Given the description of an element on the screen output the (x, y) to click on. 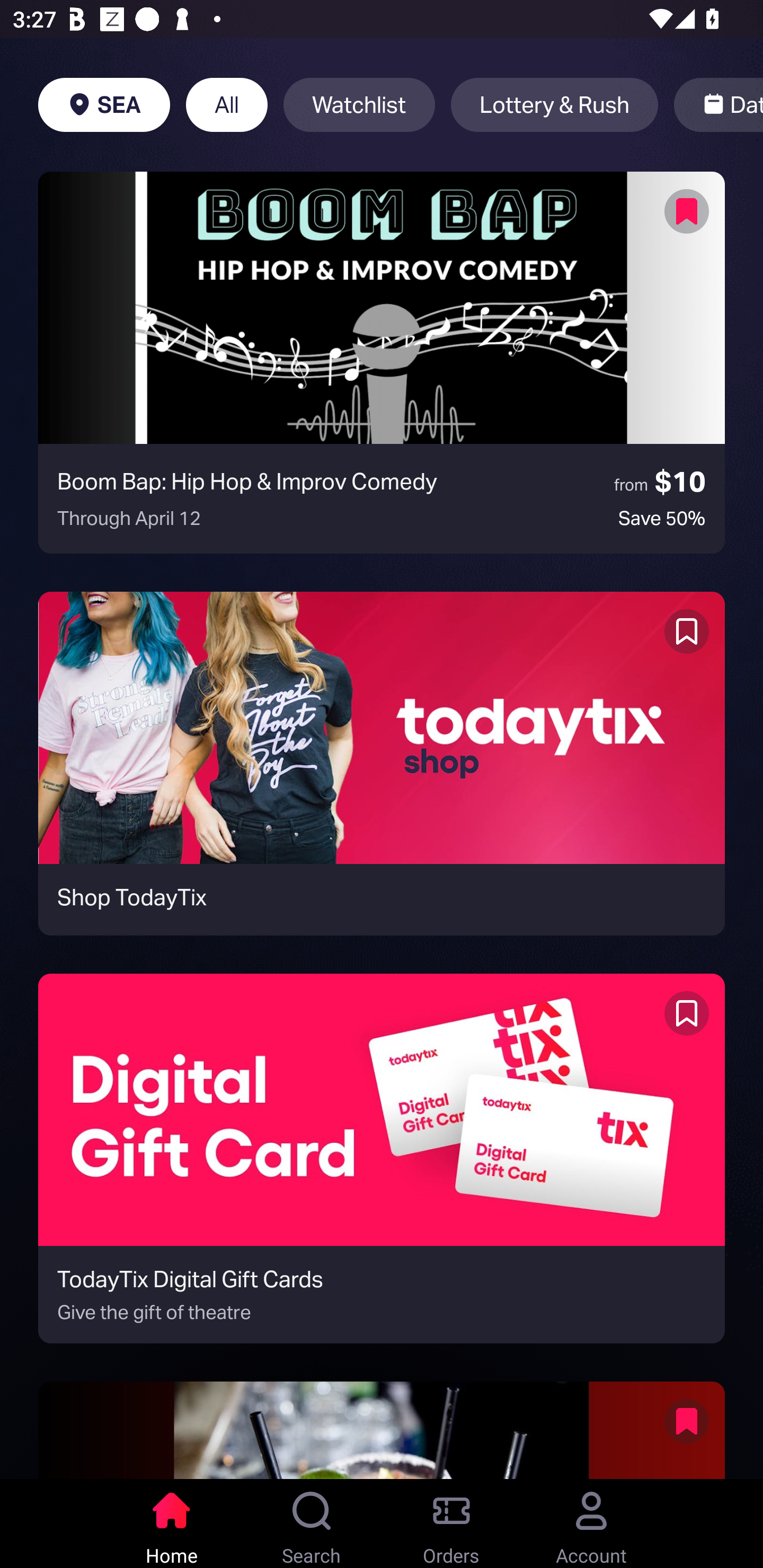
SEA (104, 104)
All (226, 104)
Watchlist (358, 104)
Lottery & Rush (553, 104)
Shop TodayTix (381, 763)
Search (311, 1523)
Orders (451, 1523)
Account (591, 1523)
